Given the description of an element on the screen output the (x, y) to click on. 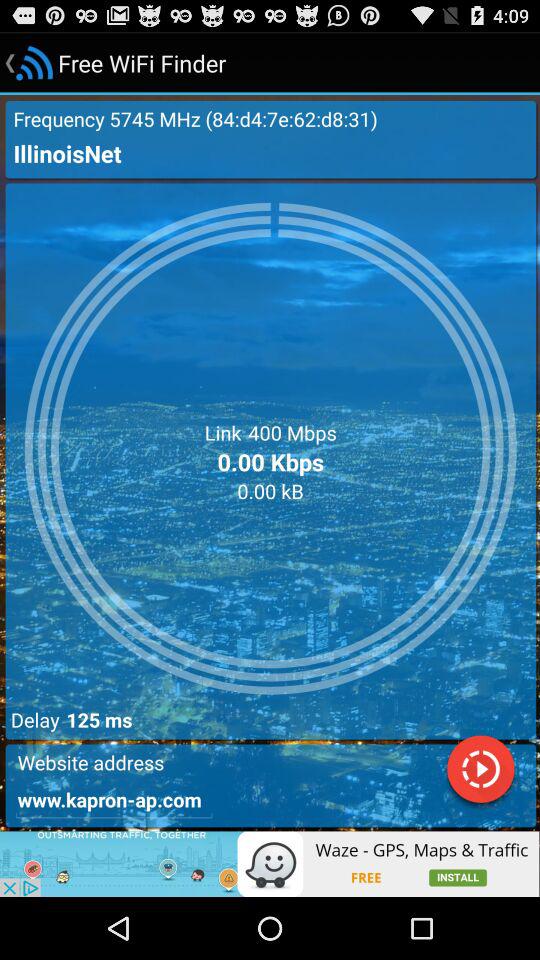
advertisement banner (270, 864)
